Given the description of an element on the screen output the (x, y) to click on. 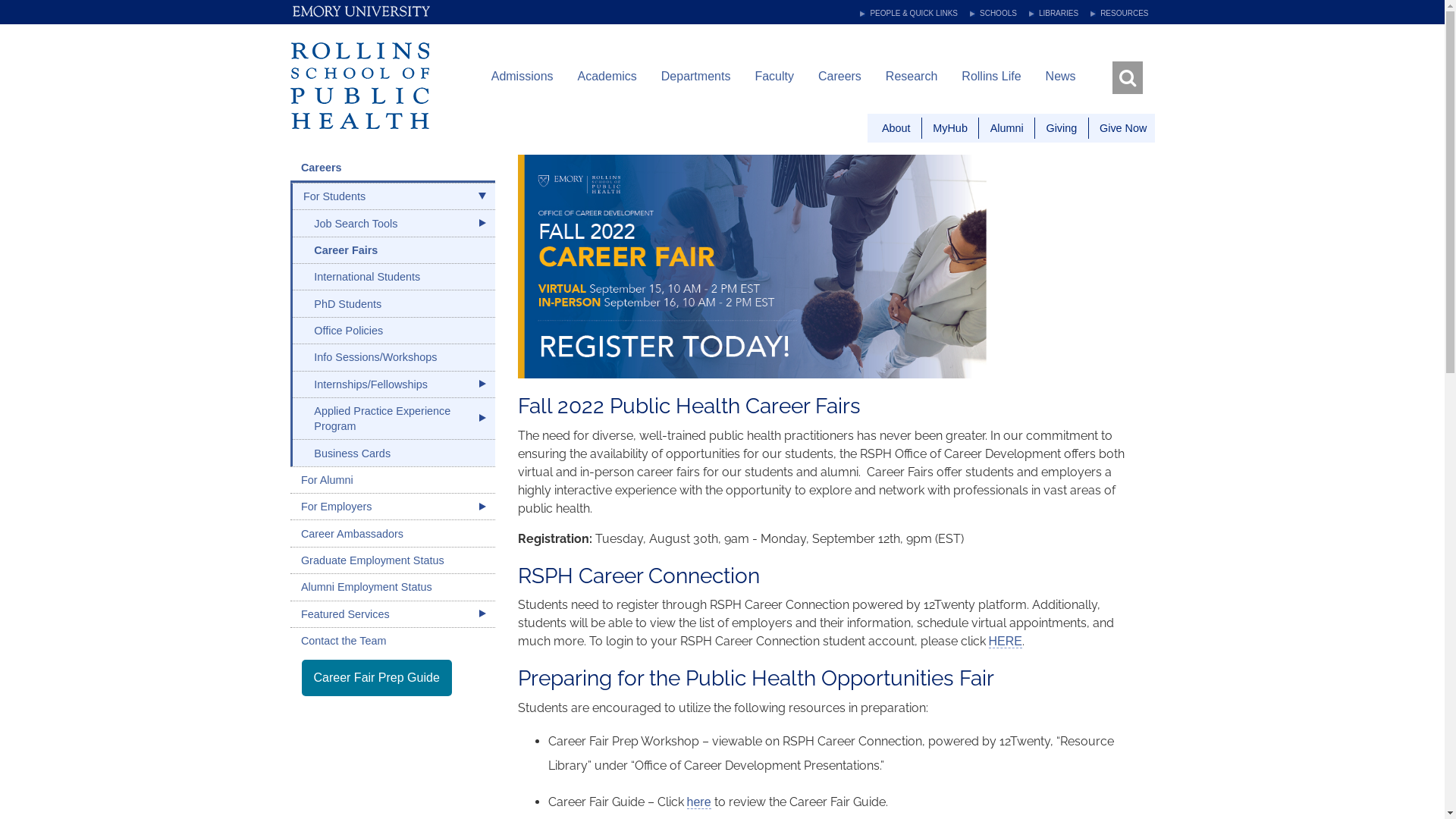
Careers Element type: text (839, 76)
For Students Element type: text (393, 196)
LIBRARIES Element type: text (1053, 13)
Contact the Team Element type: text (391, 640)
Academics Element type: text (607, 76)
Career Ambassadors Element type: text (391, 533)
For Employers Element type: text (391, 506)
News Element type: text (1060, 76)
Business Cards Element type: text (393, 452)
Applied Practice Experience Program Element type: text (393, 418)
Featured Services Element type: text (391, 614)
Alumni Employment Status Element type: text (391, 586)
MyHub Element type: text (949, 127)
Job Search Tools Element type: text (393, 222)
Research Element type: text (911, 76)
Admissions Element type: text (522, 76)
Career Fairs Element type: text (393, 250)
Give Now Element type: text (1122, 127)
About Element type: text (895, 127)
Office Policies Element type: text (393, 330)
International Students Element type: text (393, 276)
HERE Element type: text (1005, 641)
Rollins Life Element type: text (990, 76)
here Element type: text (699, 802)
Graduate Employment Status Element type: text (391, 560)
Info Sessions/Workshops Element type: text (393, 357)
Giving Element type: text (1060, 127)
Alumni Element type: text (1006, 127)
Career Fair Prep Guide Element type: text (376, 677)
Career Fair Prep Guide Element type: text (376, 677)
PEOPLE & QUICK LINKS Element type: text (908, 13)
SCHOOLS Element type: text (992, 13)
For Alumni Element type: text (391, 479)
RESOURCES Element type: text (1119, 13)
Internships/Fellowships Element type: text (393, 384)
Careers Element type: text (391, 167)
Departments Element type: text (696, 76)
PhD Students Element type: text (393, 303)
Faculty Element type: text (774, 76)
